Given the description of an element on the screen output the (x, y) to click on. 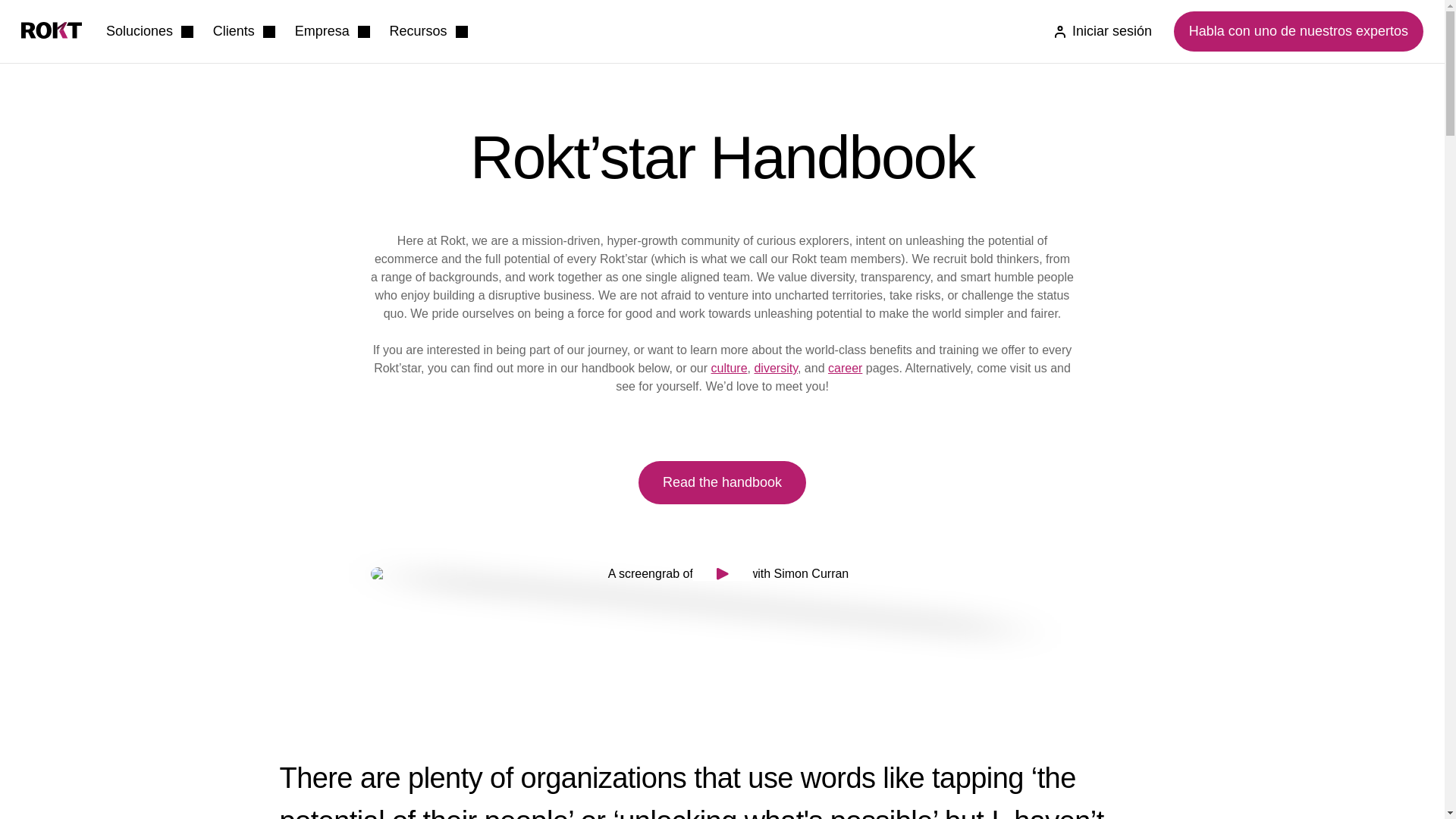
Read the handbook (722, 482)
Empresa (332, 31)
Recursos (427, 31)
Soluciones (149, 31)
culture (729, 367)
diversity (775, 367)
career (844, 367)
Clients (243, 31)
Habla con uno de nuestros expertos (1298, 31)
